Given the description of an element on the screen output the (x, y) to click on. 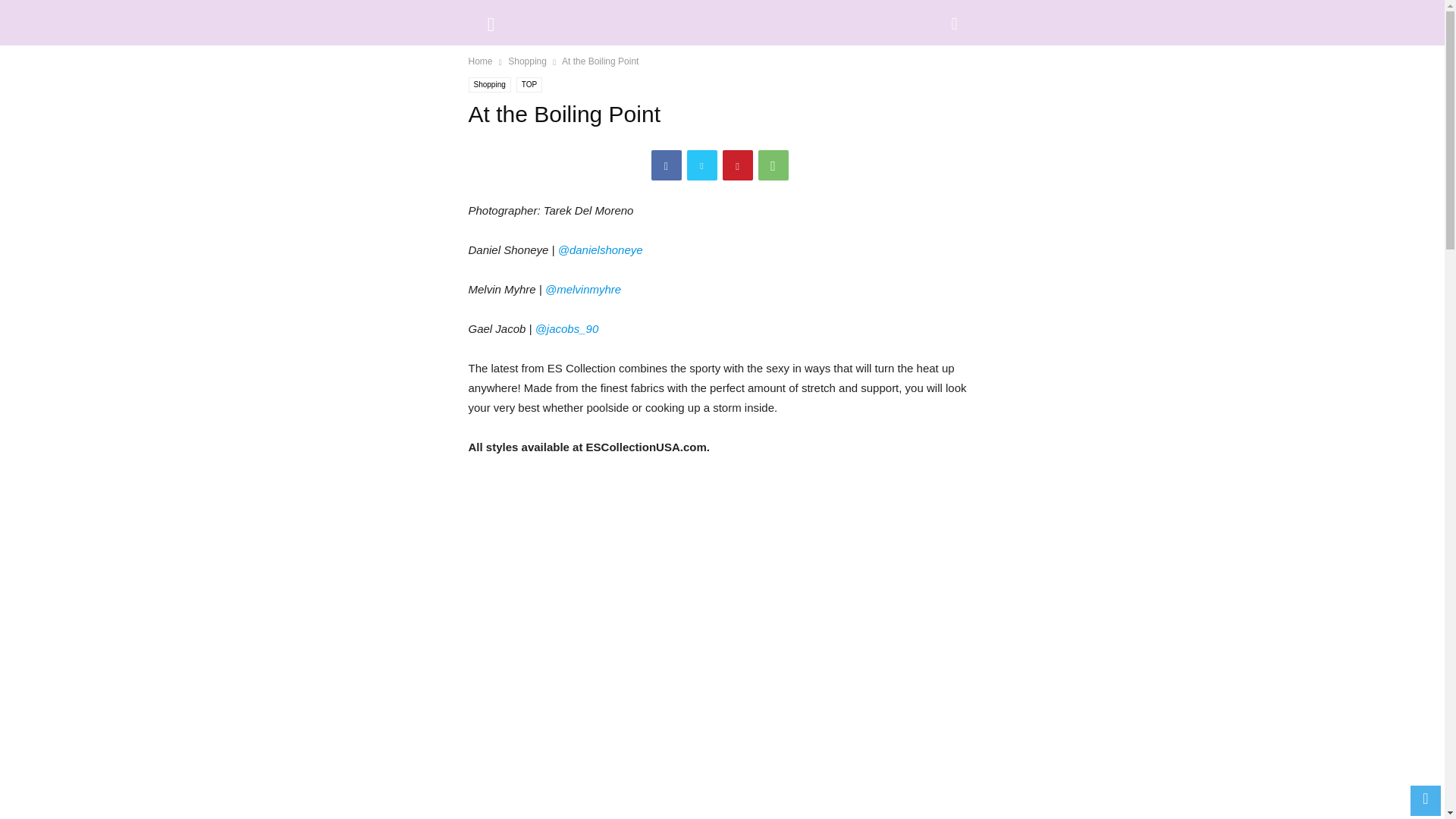
Shopping (527, 61)
WhatsApp (773, 164)
Pinterest (737, 164)
Shopping (489, 84)
Home (480, 61)
View all posts in Shopping (527, 61)
Twitter (702, 164)
TOP (528, 84)
Facebook (665, 164)
